Given the description of an element on the screen output the (x, y) to click on. 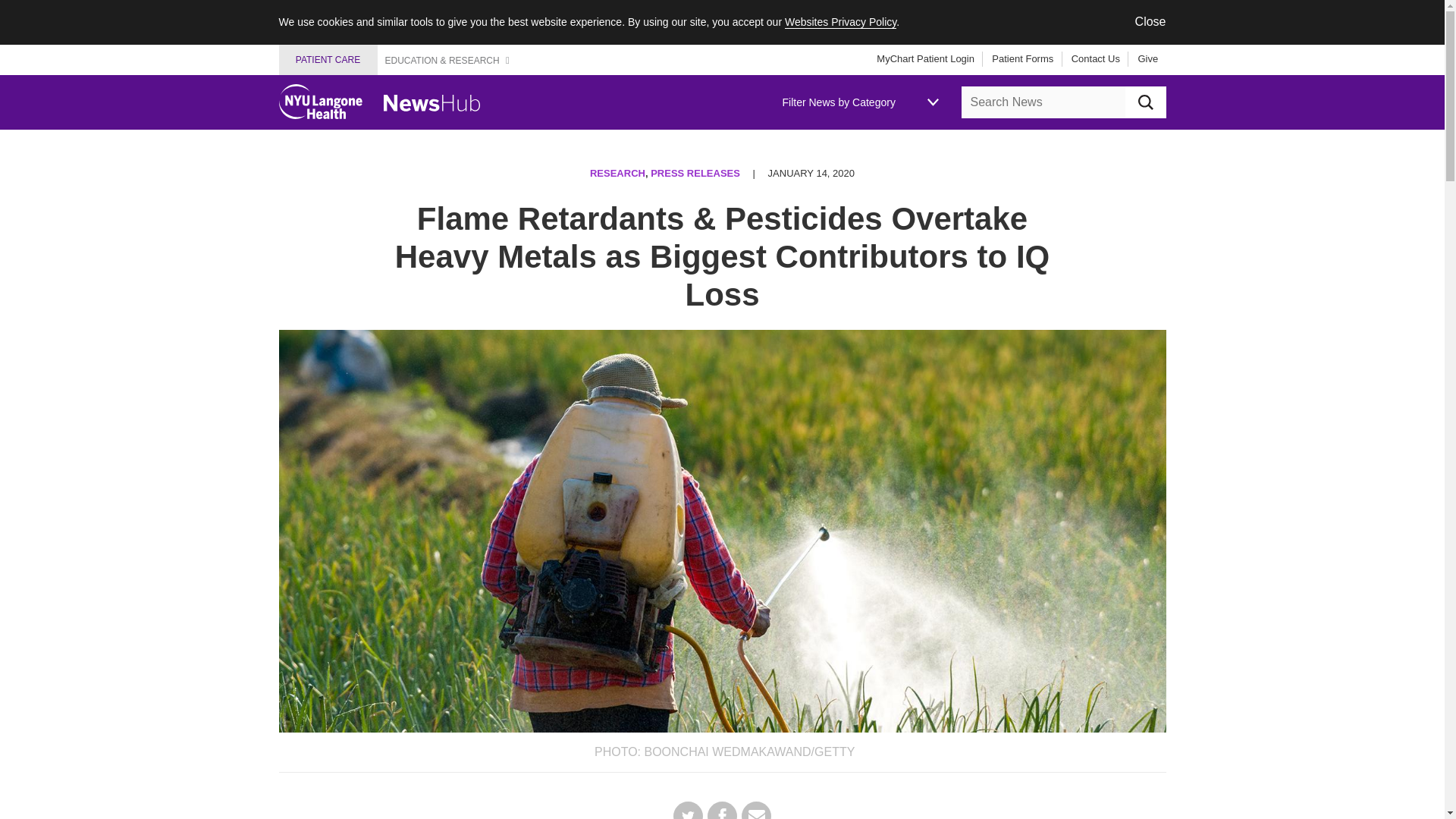
If you need help accessing our website, call 855-698-9991 (45, 19)
Twitter (687, 810)
Give (1141, 58)
Facebook (721, 810)
Enter the terms you wish to search for. (1042, 101)
Facebook (721, 810)
Close (1150, 21)
MyChart Patient Login (925, 58)
PRESS RELEASES (694, 173)
PATIENT CARE (327, 59)
Websites Privacy Policy (840, 21)
Patient Forms (1016, 58)
Filter News by Category (860, 102)
Email (756, 810)
Search (1145, 101)
